Given the description of an element on the screen output the (x, y) to click on. 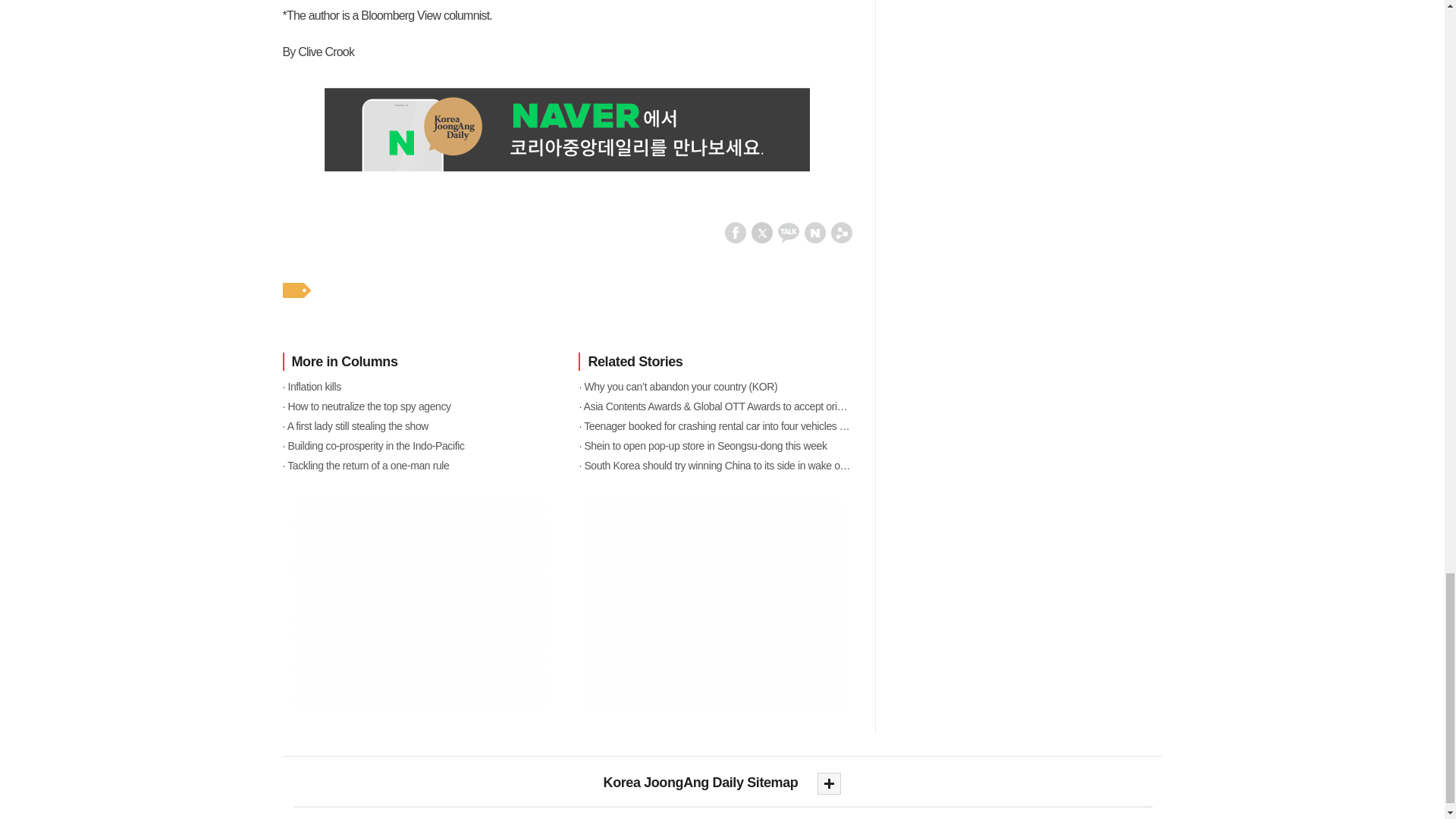
Share to Naver Blog New Window (815, 231)
Korea JoongAng Daily Sitemap (722, 783)
Building co-prosperity in the Indo-Pacific (419, 444)
Tackling the return of a one-man rule (419, 465)
Inflation kills (419, 385)
Share to KakaoTalk New Window (788, 231)
Share to Twitter New Window (762, 231)
How to neutralize the top spy agency (419, 405)
Shein to open pop-up store in Seongsu-dong this week (714, 444)
Share to Facebook New Window (735, 231)
A first lady still stealing the show (419, 424)
Copy URL To Clipboard (841, 231)
